Given the description of an element on the screen output the (x, y) to click on. 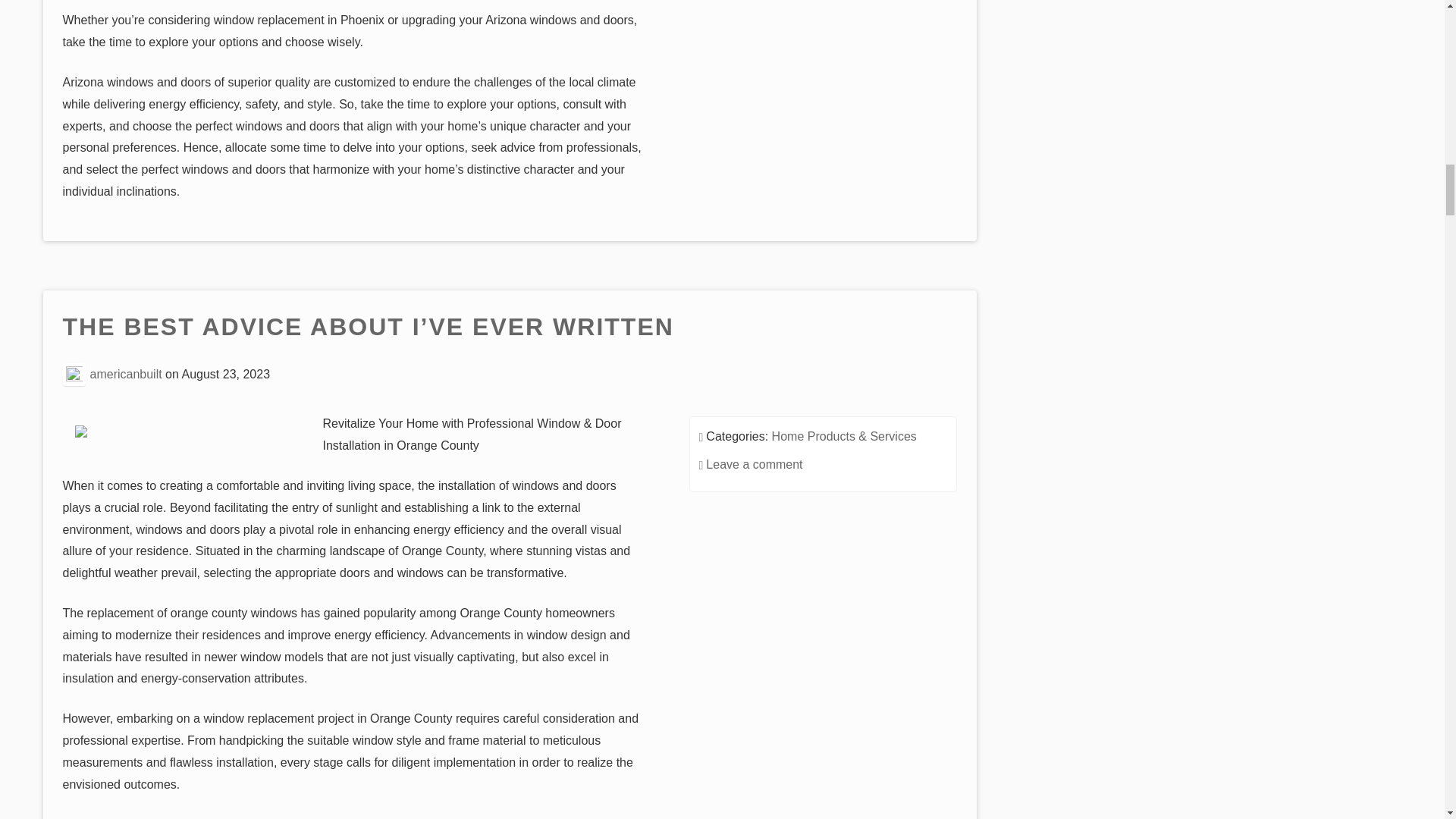
window installation (134, 818)
americanbuilt (125, 373)
Leave a comment (754, 463)
